Given the description of an element on the screen output the (x, y) to click on. 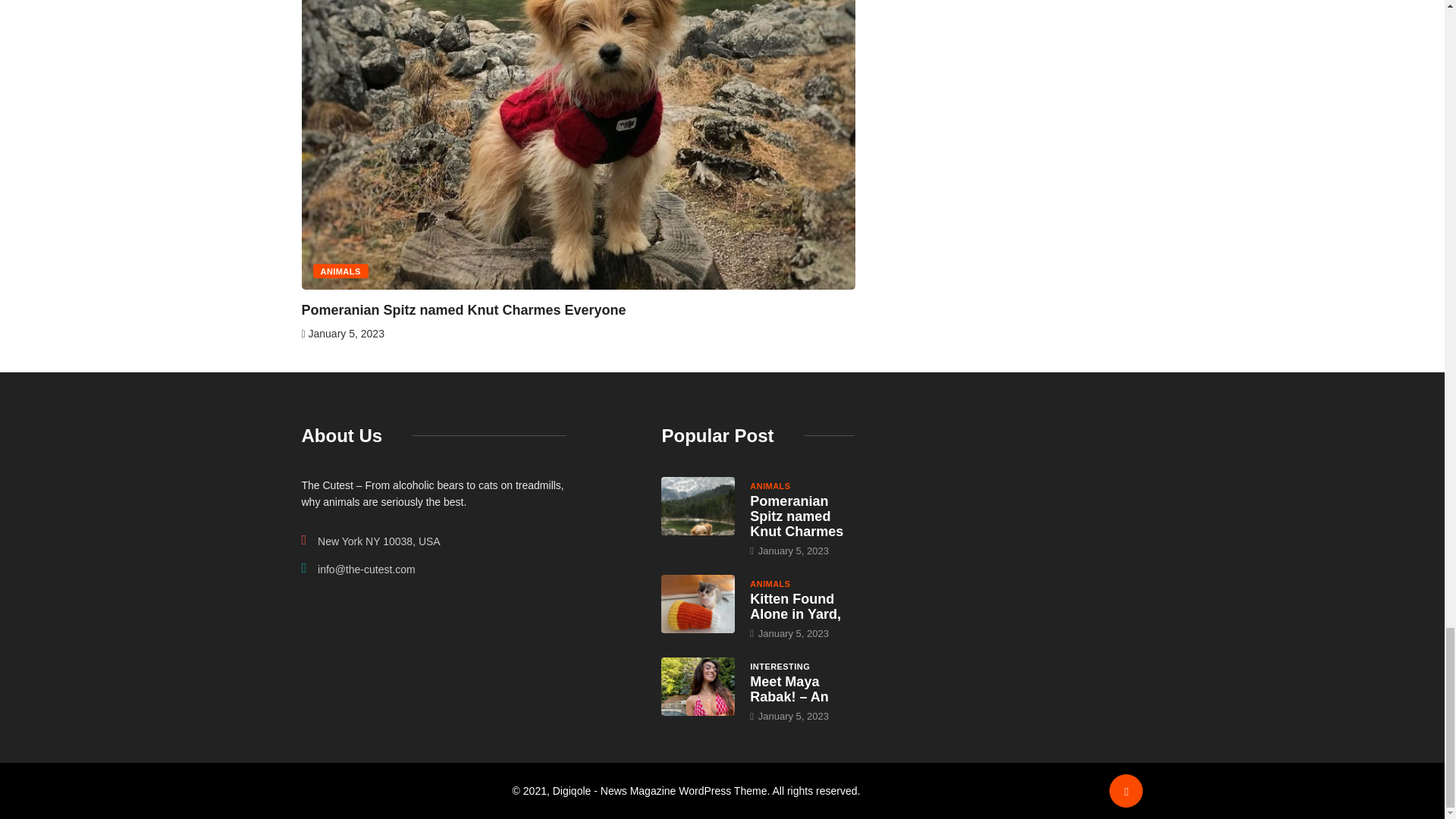
Pomeranian Spitz named Knut Charmes Everyone (698, 505)
Pomeranian Spitz named Knut Charmes Everyone (796, 515)
Pomeranian Spitz named Knut Charmes Everyone (463, 309)
ANIMALS (340, 270)
